Given the description of an element on the screen output the (x, y) to click on. 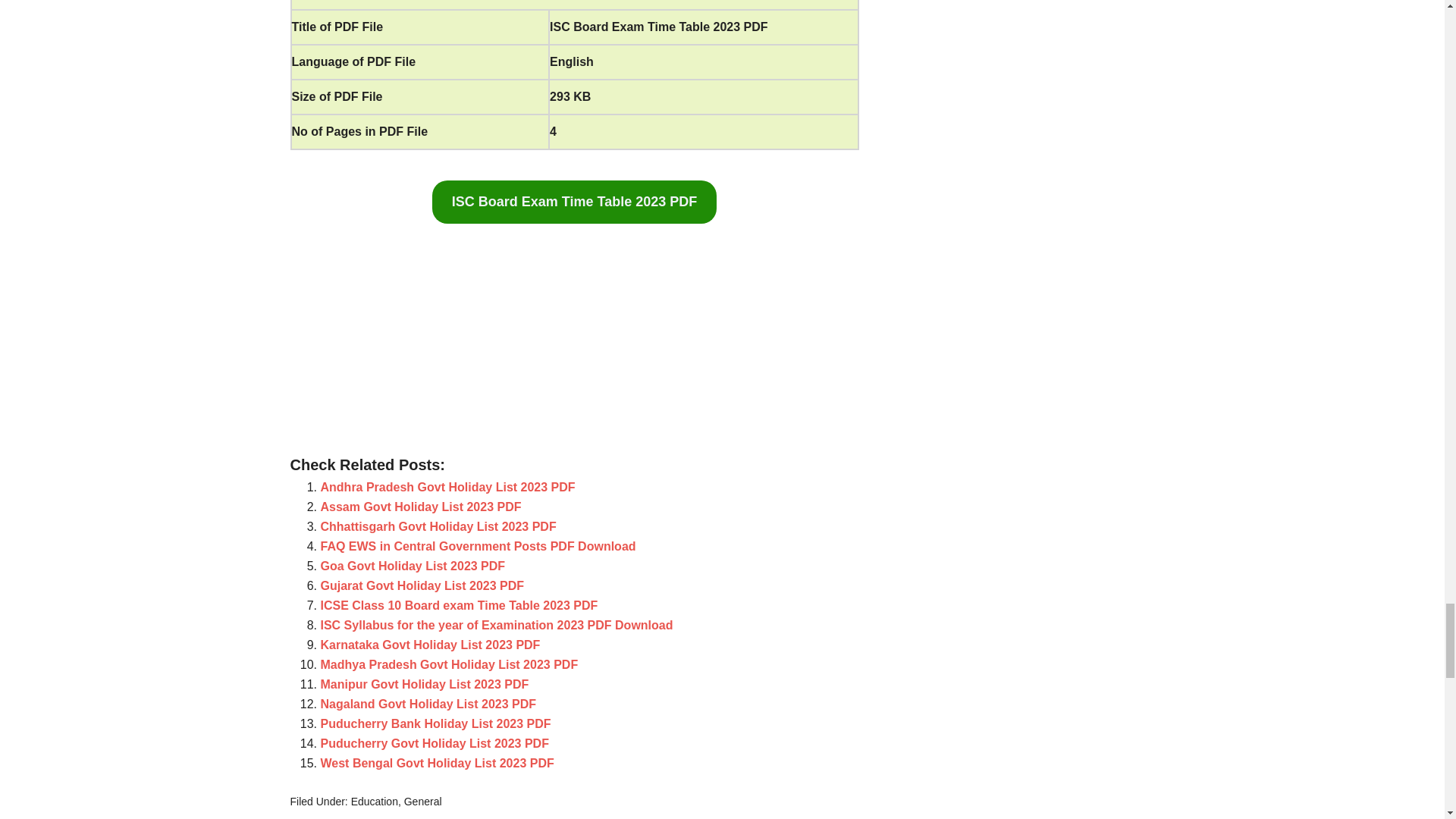
Education (373, 801)
Nagaland Govt Holiday List 2023 PDF (427, 703)
Karnataka Govt Holiday List 2023 PDF (430, 644)
Puducherry Bank Holiday List 2023 PDF (435, 723)
ISC Syllabus for the year of Examination 2023 PDF Download (496, 625)
ICSE Class 10 Board exam Time Table 2023 PDF (458, 604)
Assam Govt Holiday List 2023 PDF (420, 506)
Puducherry Govt Holiday List 2023 PDF (434, 743)
Manipur Govt Holiday List 2023 PDF (424, 684)
Karnataka Govt Holiday List 2023 PDF (430, 644)
Madhya Pradesh Govt Holiday List 2023 PDF (449, 664)
Puducherry Govt Holiday List 2023 PDF (434, 743)
Nagaland Govt Holiday List 2023 PDF (427, 703)
ISC Syllabus for the year of Examination 2023 PDF Download (496, 625)
FAQ EWS in Central Government Posts PDF Download (477, 545)
